Given the description of an element on the screen output the (x, y) to click on. 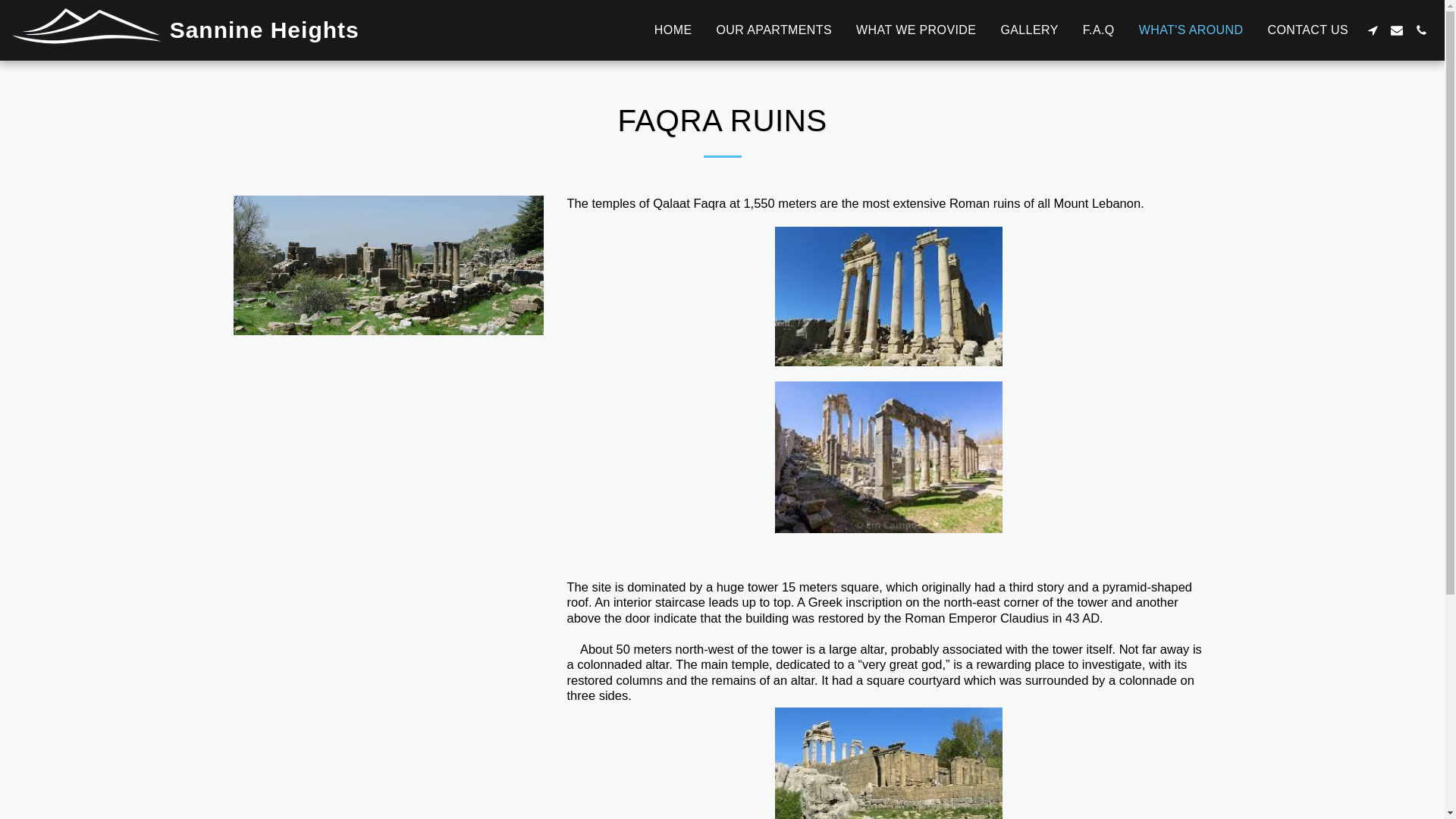
GALLERY (1028, 30)
Sannine Heights (185, 30)
HOME (673, 30)
OUR APARTMENTS (773, 30)
WHAT'S AROUND (1190, 30)
CONTACT US (1307, 30)
F.A.Q (1098, 30)
WHAT WE PROVIDE (915, 30)
